Given the description of an element on the screen output the (x, y) to click on. 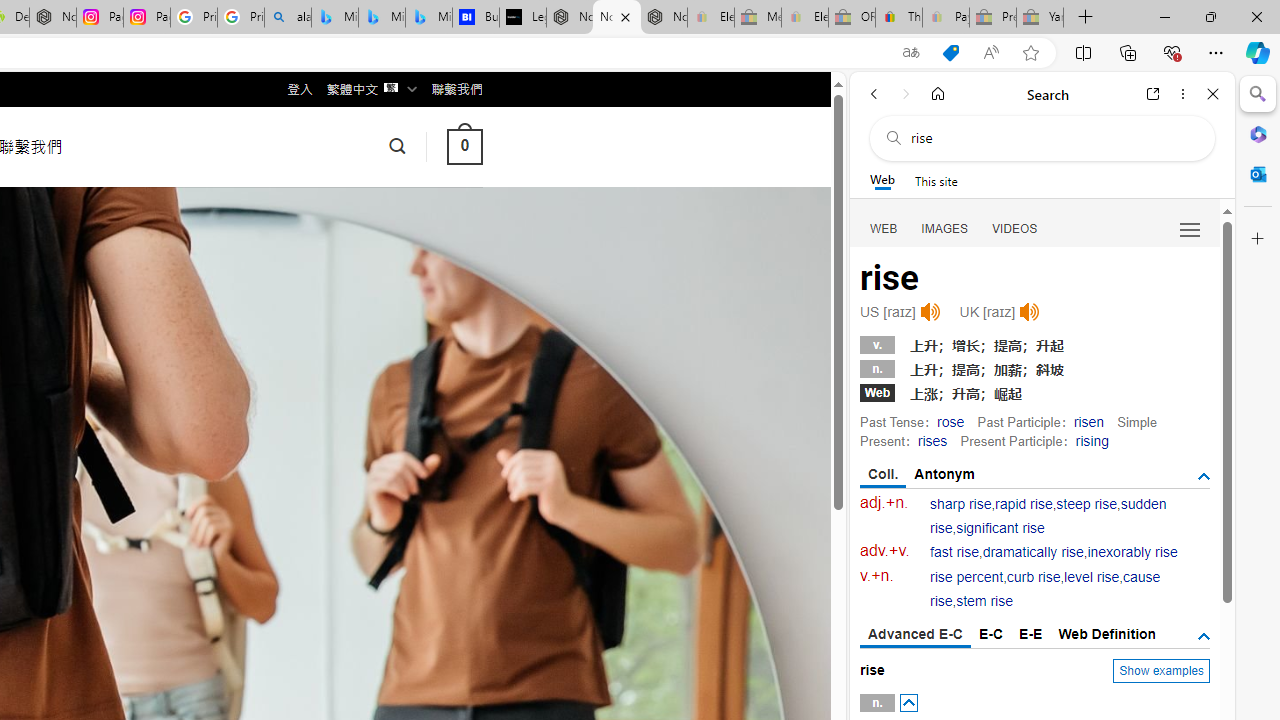
dramatically rise (1032, 552)
  0   (464, 146)
